Given the description of an element on the screen output the (x, y) to click on. 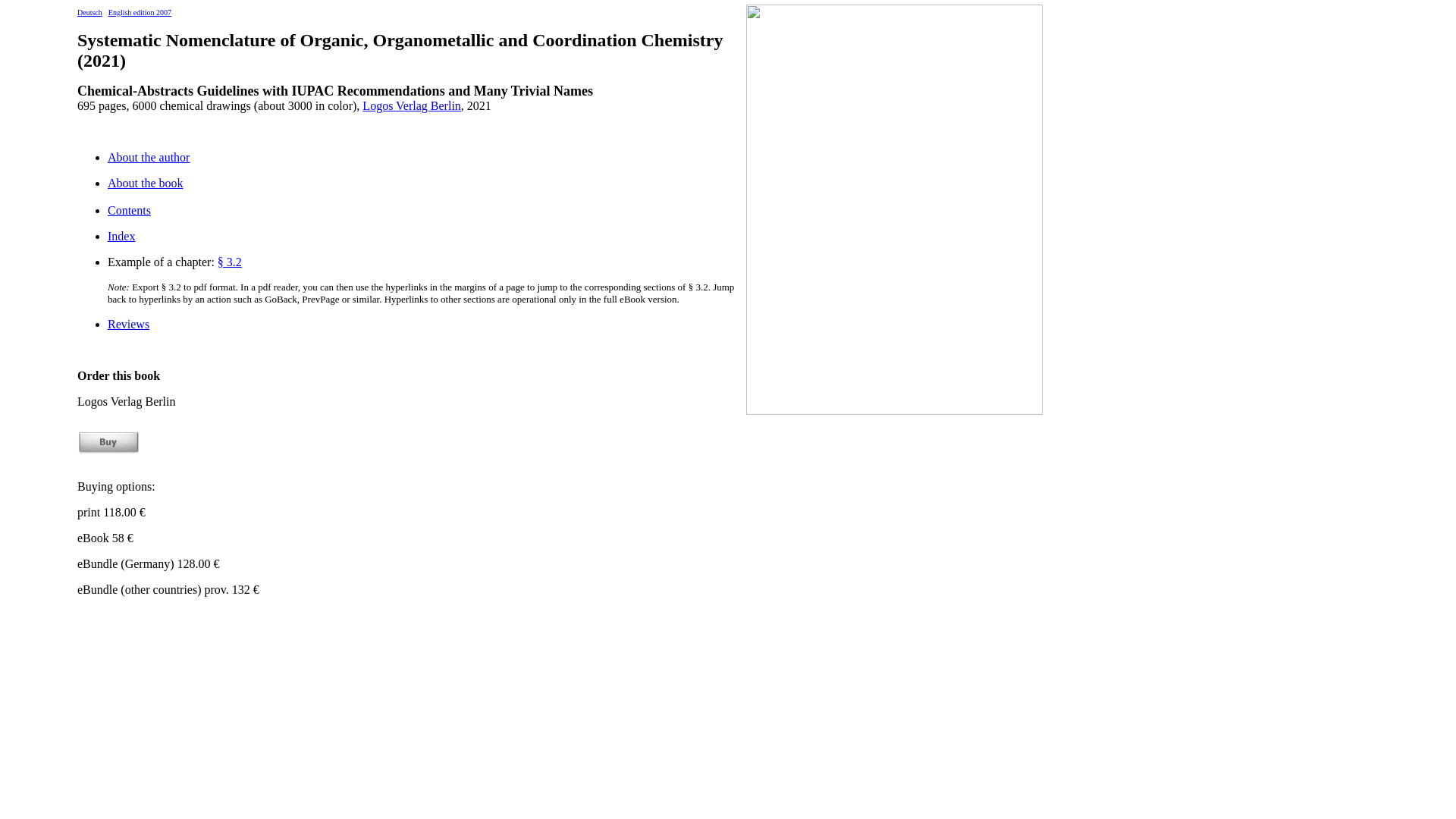
Logos Verlag Berlin Element type: text (411, 105)
About the author Element type: text (148, 156)
About the book Element type: text (145, 182)
English edition 2007 Element type: text (139, 10)
Index Element type: text (120, 235)
Contents Element type: text (128, 209)
Deutsch Element type: text (89, 10)
Reviews Element type: text (128, 323)
